Given the description of an element on the screen output the (x, y) to click on. 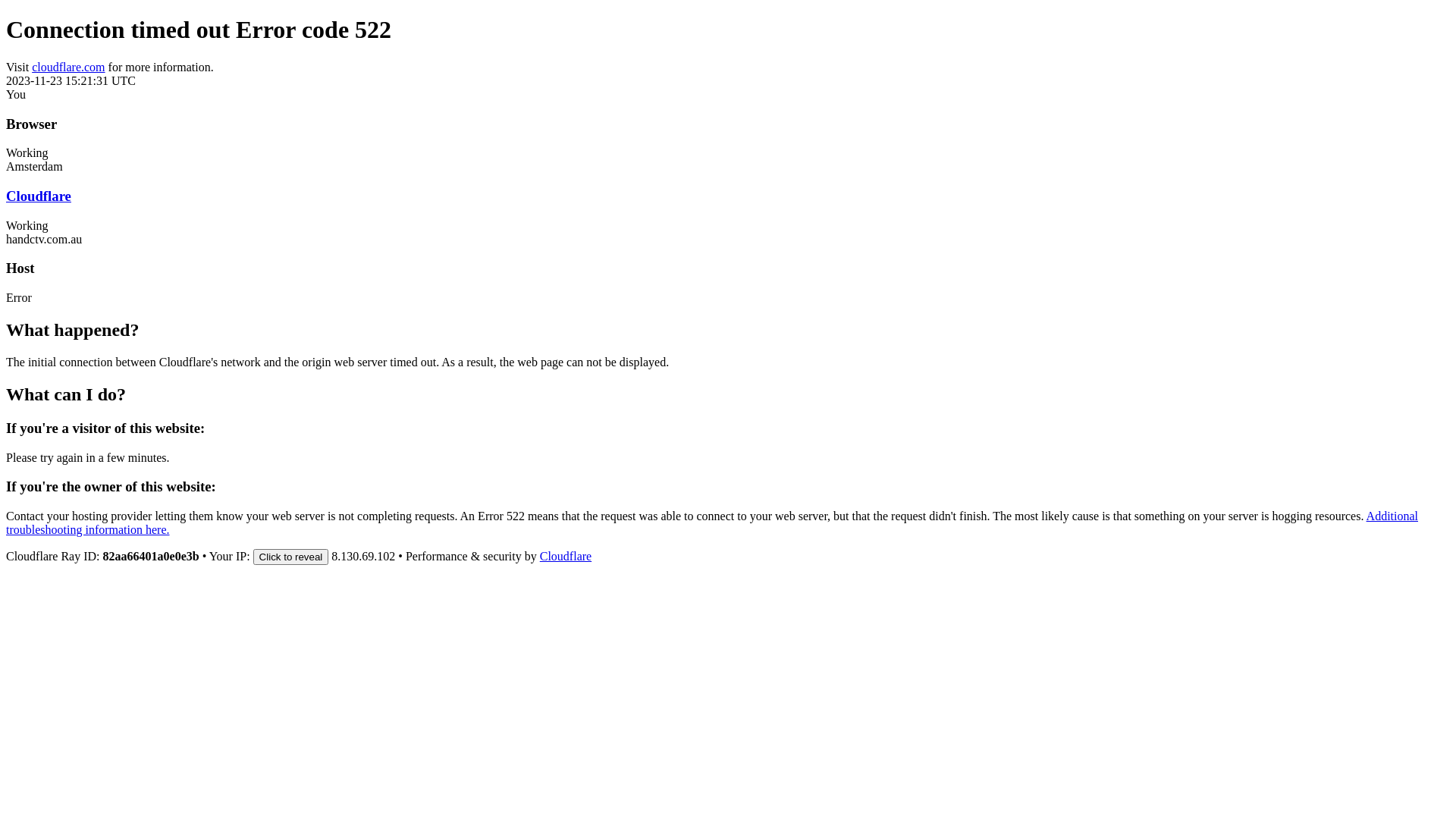
Cloudflare Element type: text (38, 195)
cloudflare.com Element type: text (67, 66)
Additional troubleshooting information here. Element type: text (712, 522)
Click to reveal Element type: text (291, 556)
Cloudflare Element type: text (565, 555)
